Given the description of an element on the screen output the (x, y) to click on. 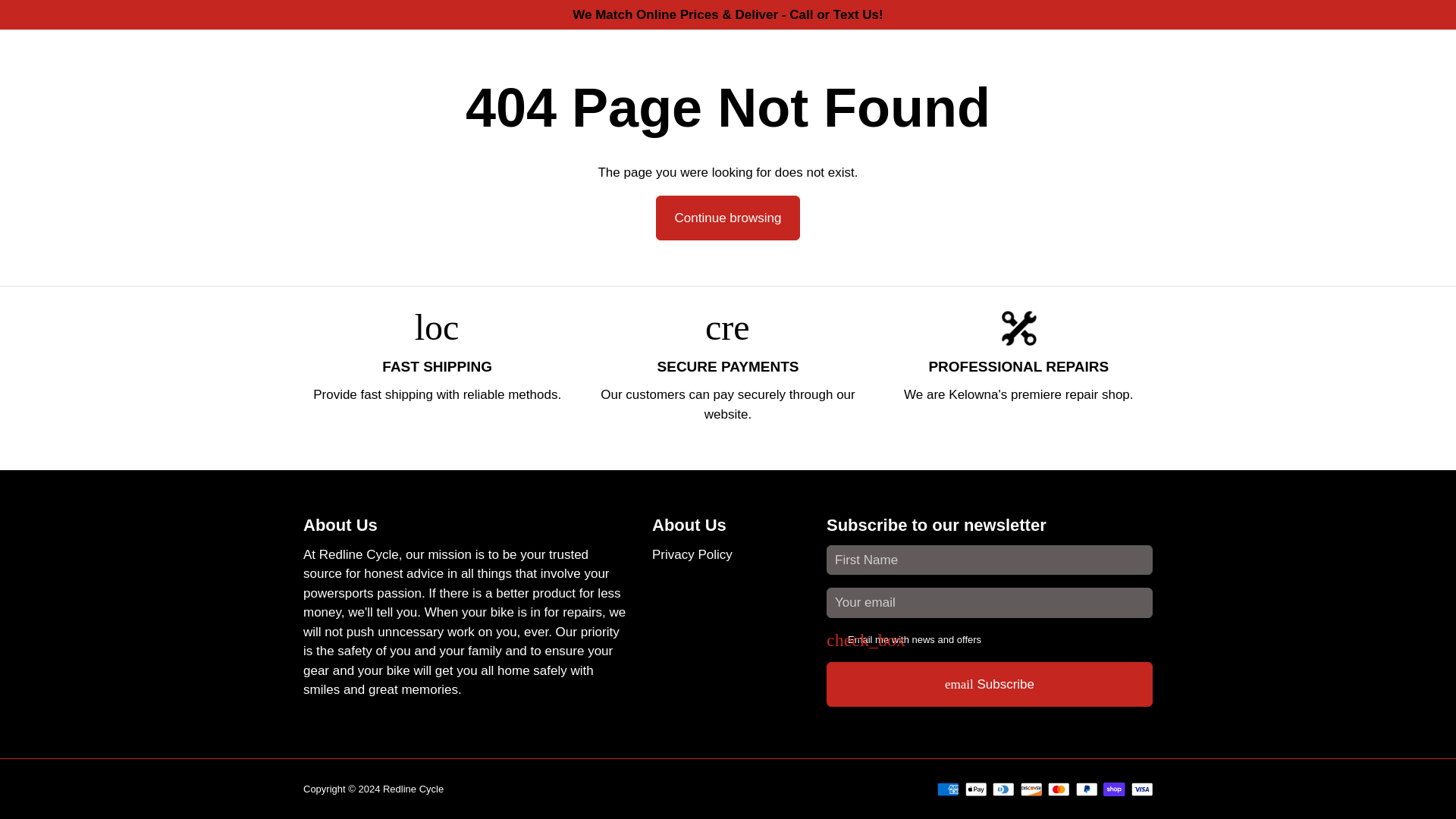
Discover (1031, 789)
PayPal (1085, 789)
Search (1033, 61)
Cart (1108, 61)
American Express (948, 789)
Redline Cycle (413, 787)
Contact (838, 62)
Book a Service (575, 62)
email Subscribe (990, 683)
